Given the description of an element on the screen output the (x, y) to click on. 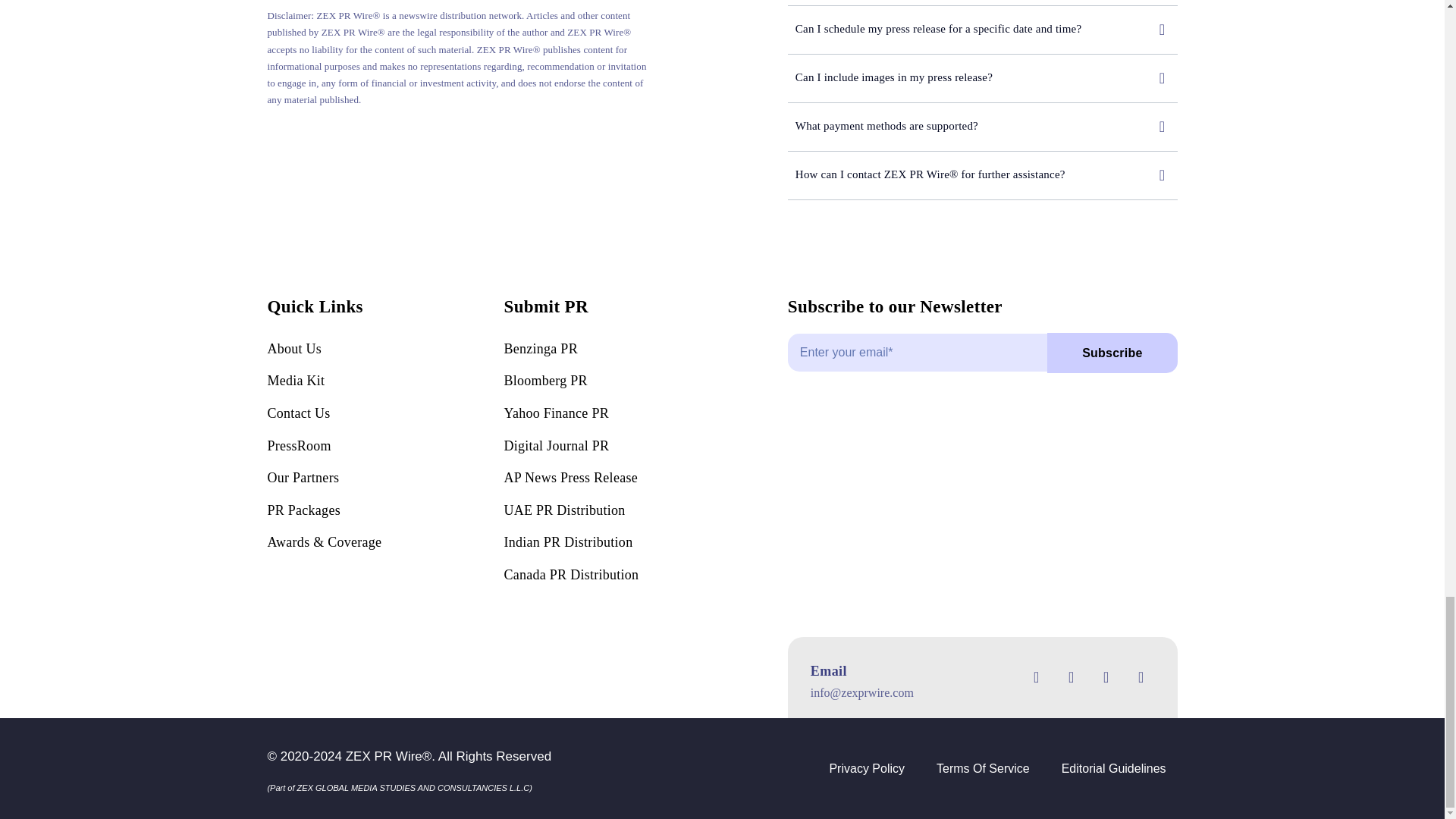
LinkedIn (1140, 677)
X (1071, 677)
Instagram (1106, 677)
Facebook (1036, 677)
Subscribe (982, 360)
